Given the description of an element on the screen output the (x, y) to click on. 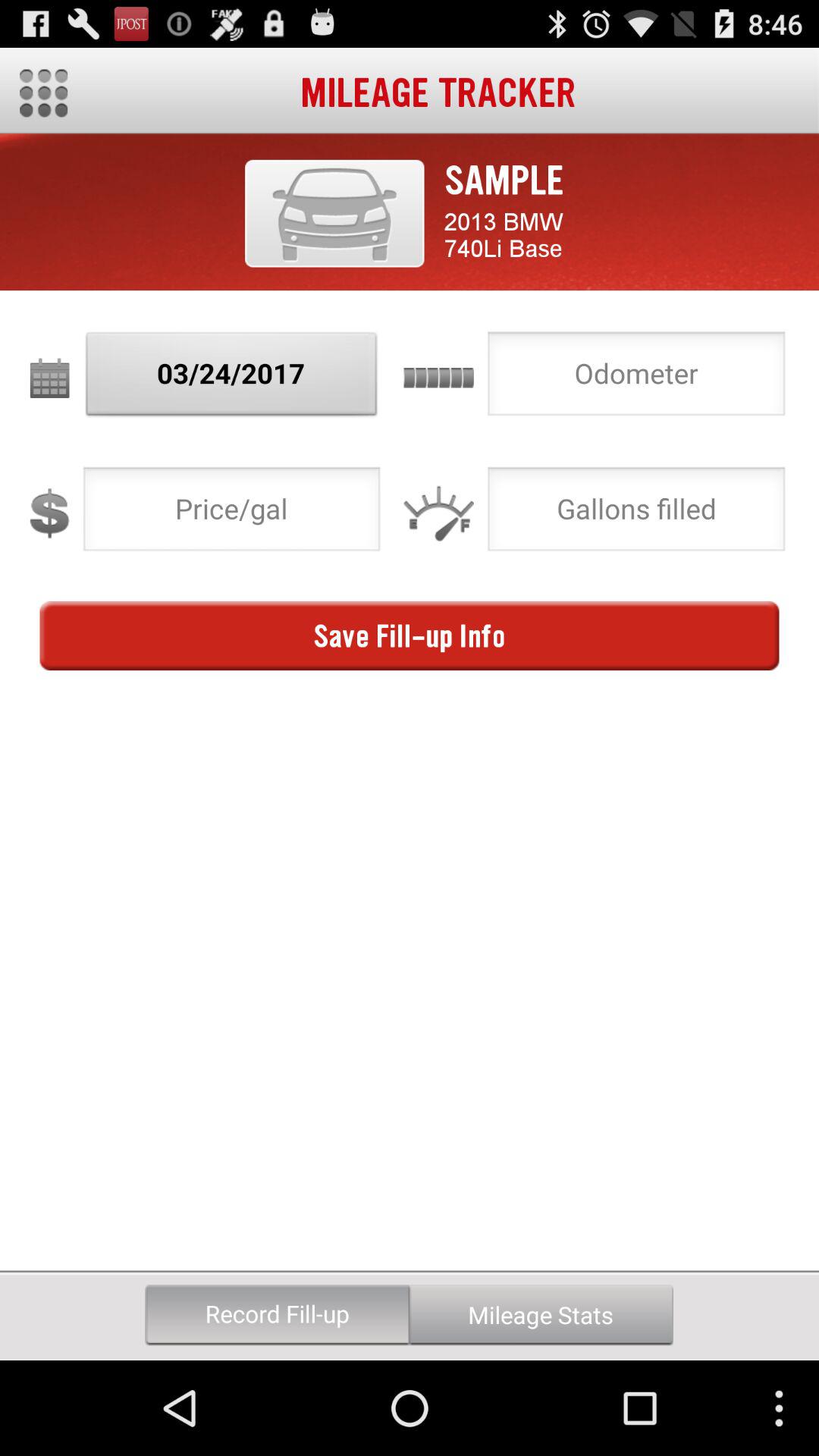
show more options (43, 93)
